Given the description of an element on the screen output the (x, y) to click on. 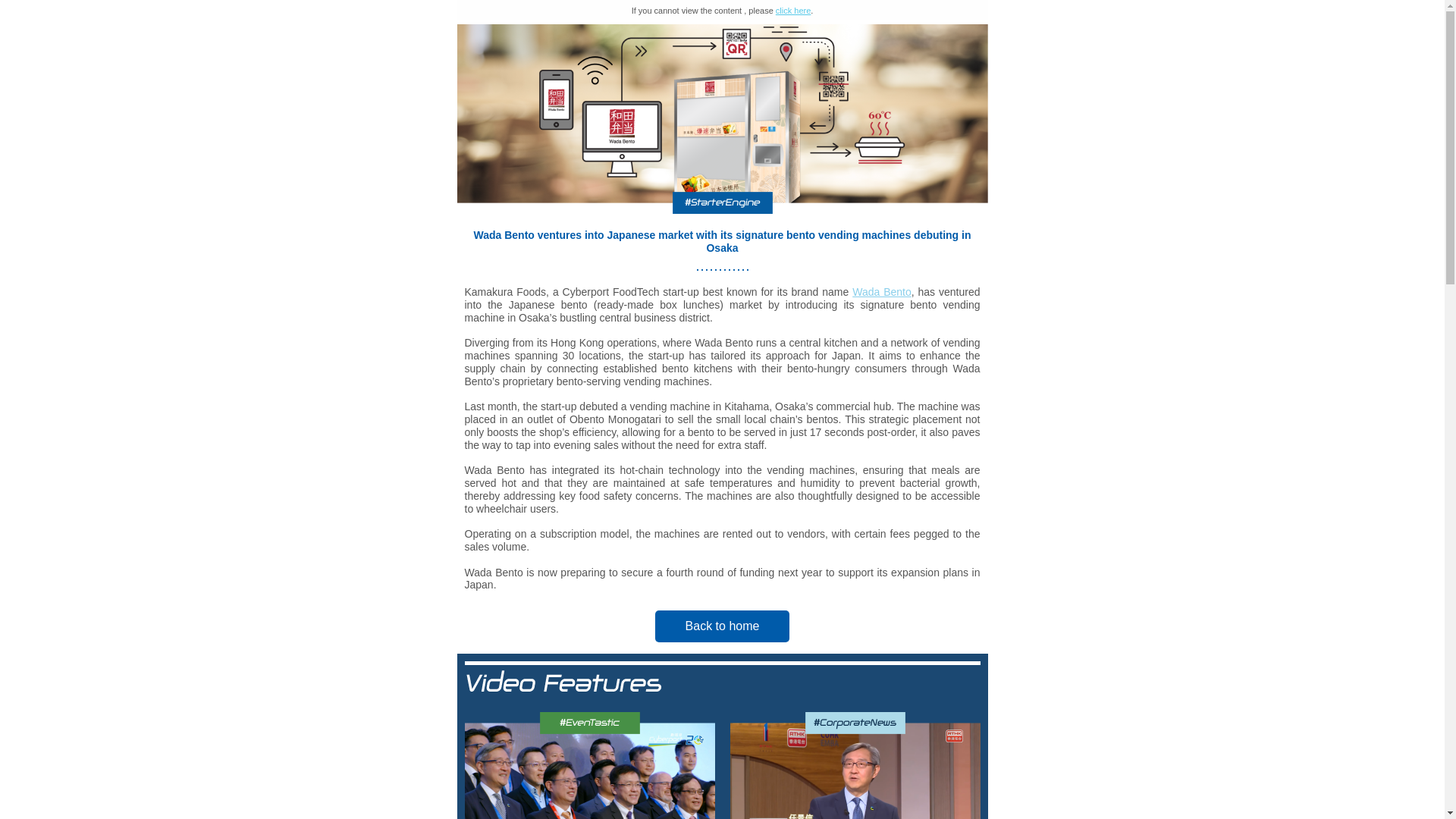
Back to home (722, 626)
Wada Bento (881, 291)
click here (793, 10)
